Given the description of an element on the screen output the (x, y) to click on. 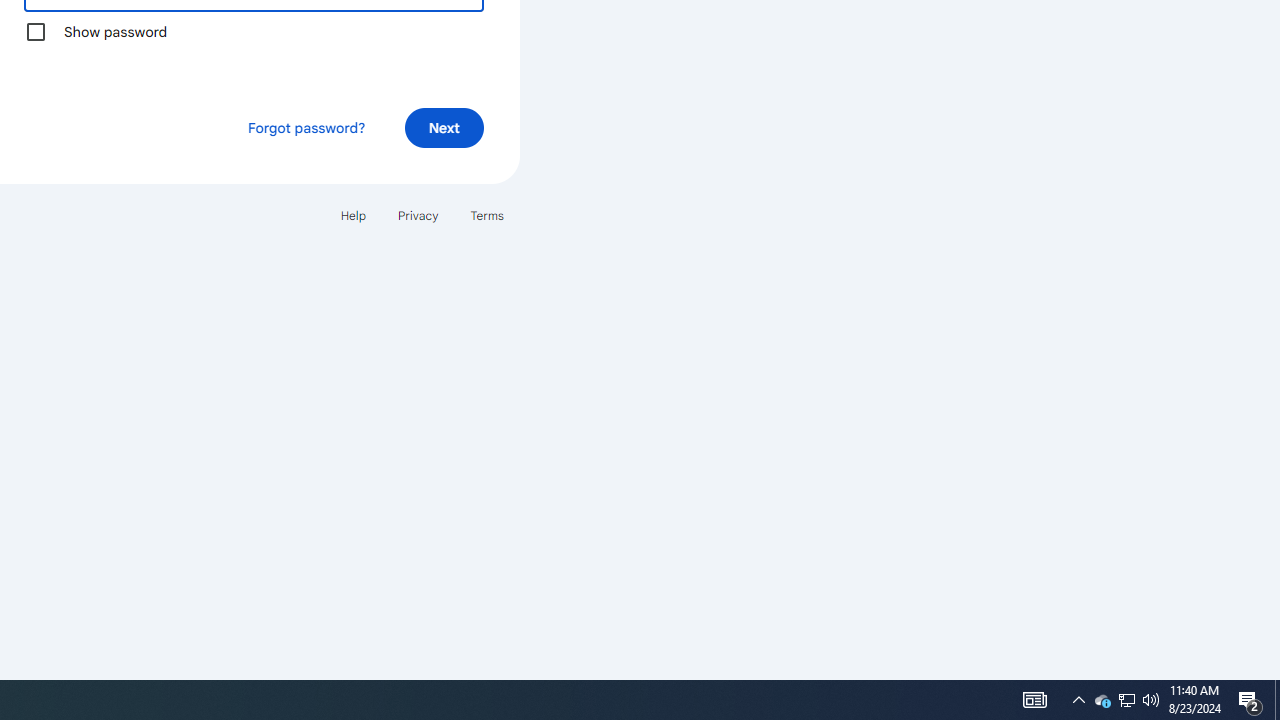
Forgot password? (305, 127)
Show password (35, 31)
